Given the description of an element on the screen output the (x, y) to click on. 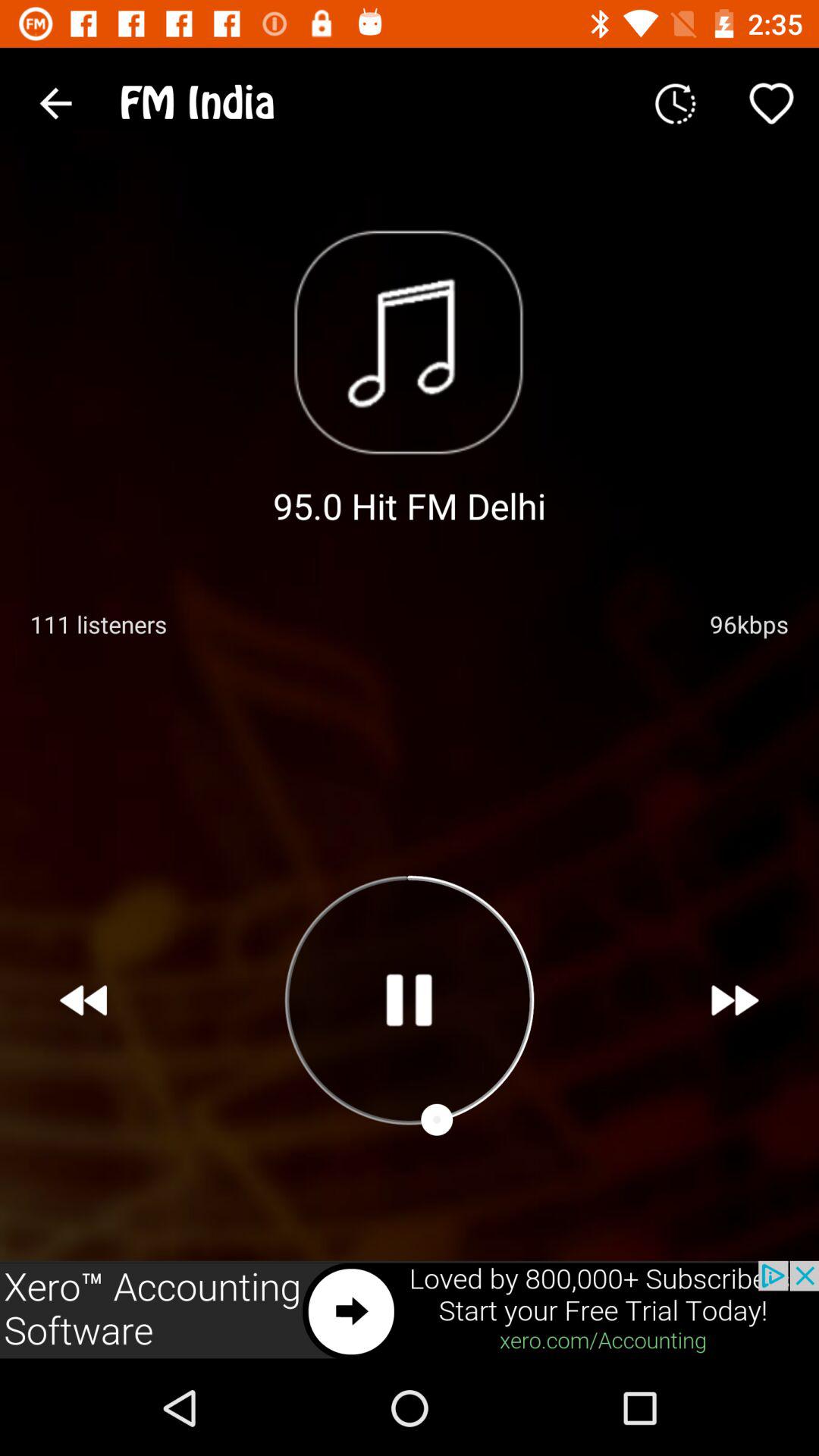
next song (735, 1000)
